Given the description of an element on the screen output the (x, y) to click on. 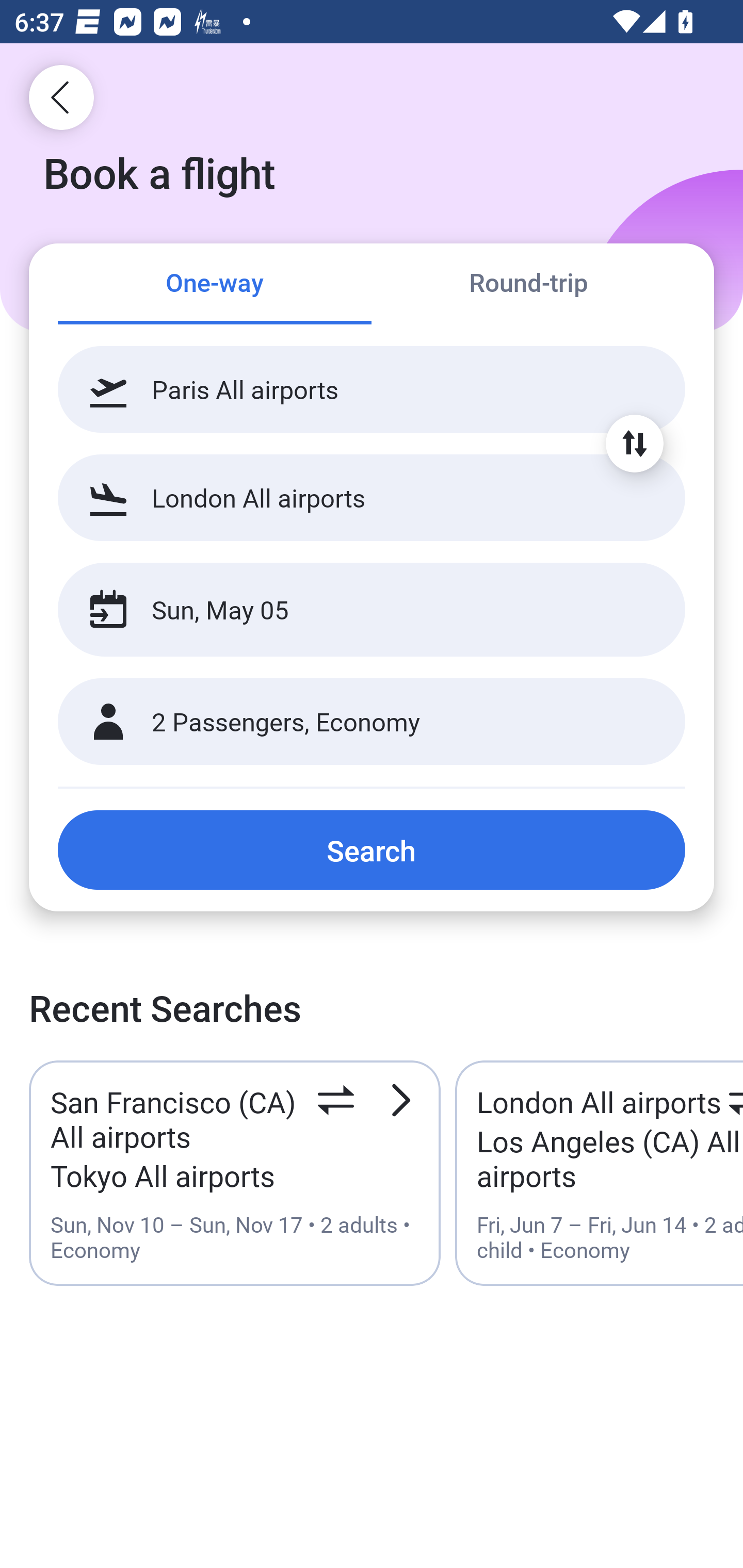
Round-trip (528, 284)
Paris All airports (371, 389)
London All airports (371, 497)
Sun, May 05 (349, 609)
2 Passengers, Economy (371, 721)
Search (371, 849)
